Given the description of an element on the screen output the (x, y) to click on. 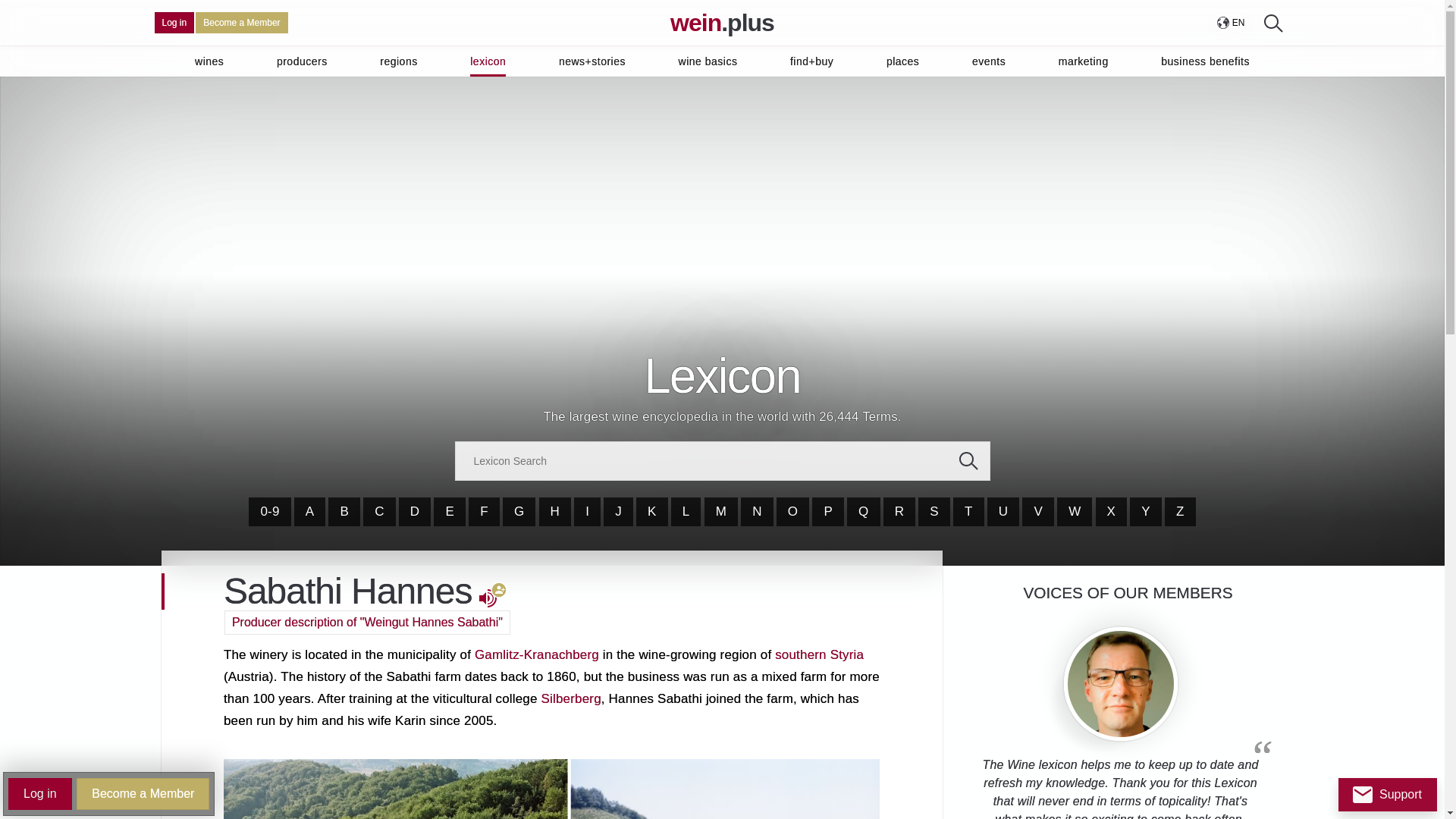
wine basics (708, 60)
country: Other (1222, 22)
Become a Member (240, 22)
Country (1230, 22)
lexicon (487, 60)
EN (1230, 22)
producers (301, 60)
business benefits (1204, 60)
regions (398, 60)
wein.plus (721, 22)
English Language (1237, 22)
events (989, 60)
Log in (174, 22)
marketing (1083, 60)
wines (209, 60)
